Given the description of an element on the screen output the (x, y) to click on. 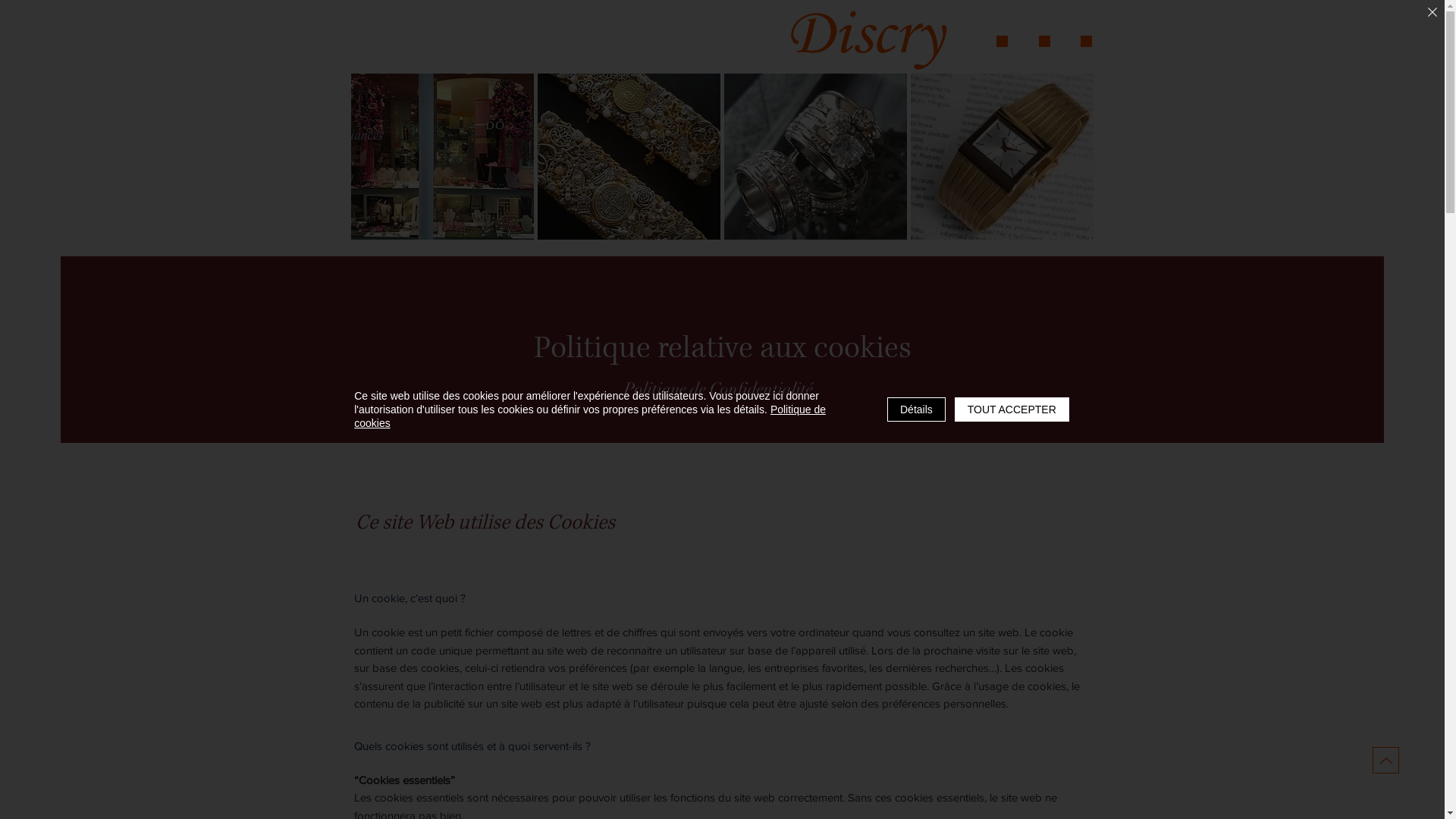
TOUT ACCEPTER Element type: text (1011, 409)
Politique de cookies Element type: text (589, 416)
